Given the description of an element on the screen output the (x, y) to click on. 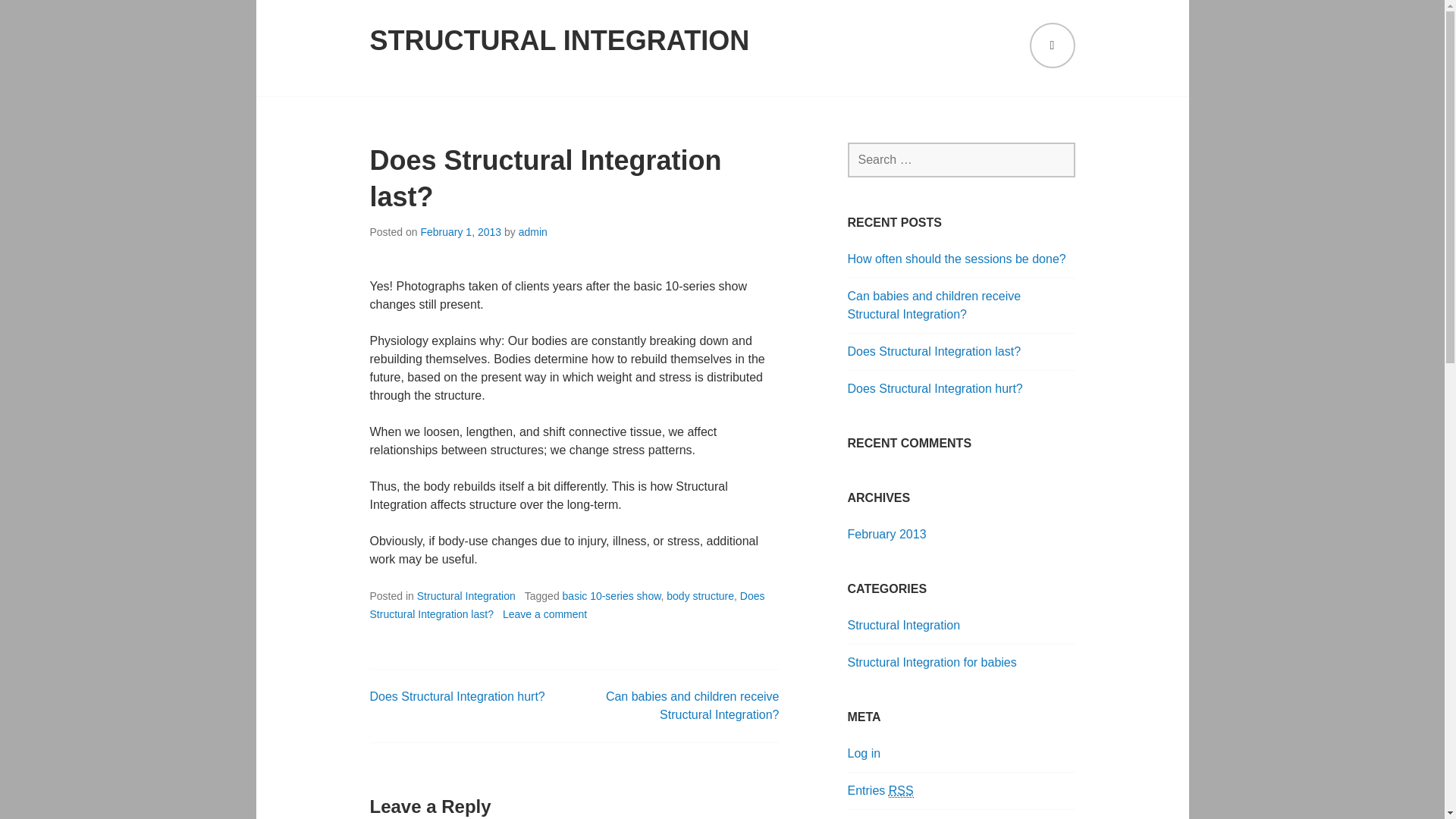
Search (45, 17)
Does Structural Integration hurt? (935, 388)
Does Structural Integration last? (567, 604)
Can babies and children receive Structural Integration? (934, 305)
Structural Integration for babies (931, 662)
Log in (863, 753)
February 2013 (886, 533)
Entries RSS (880, 790)
admin (532, 232)
Can babies and children receive Structural Integration? (691, 705)
